Given the description of an element on the screen output the (x, y) to click on. 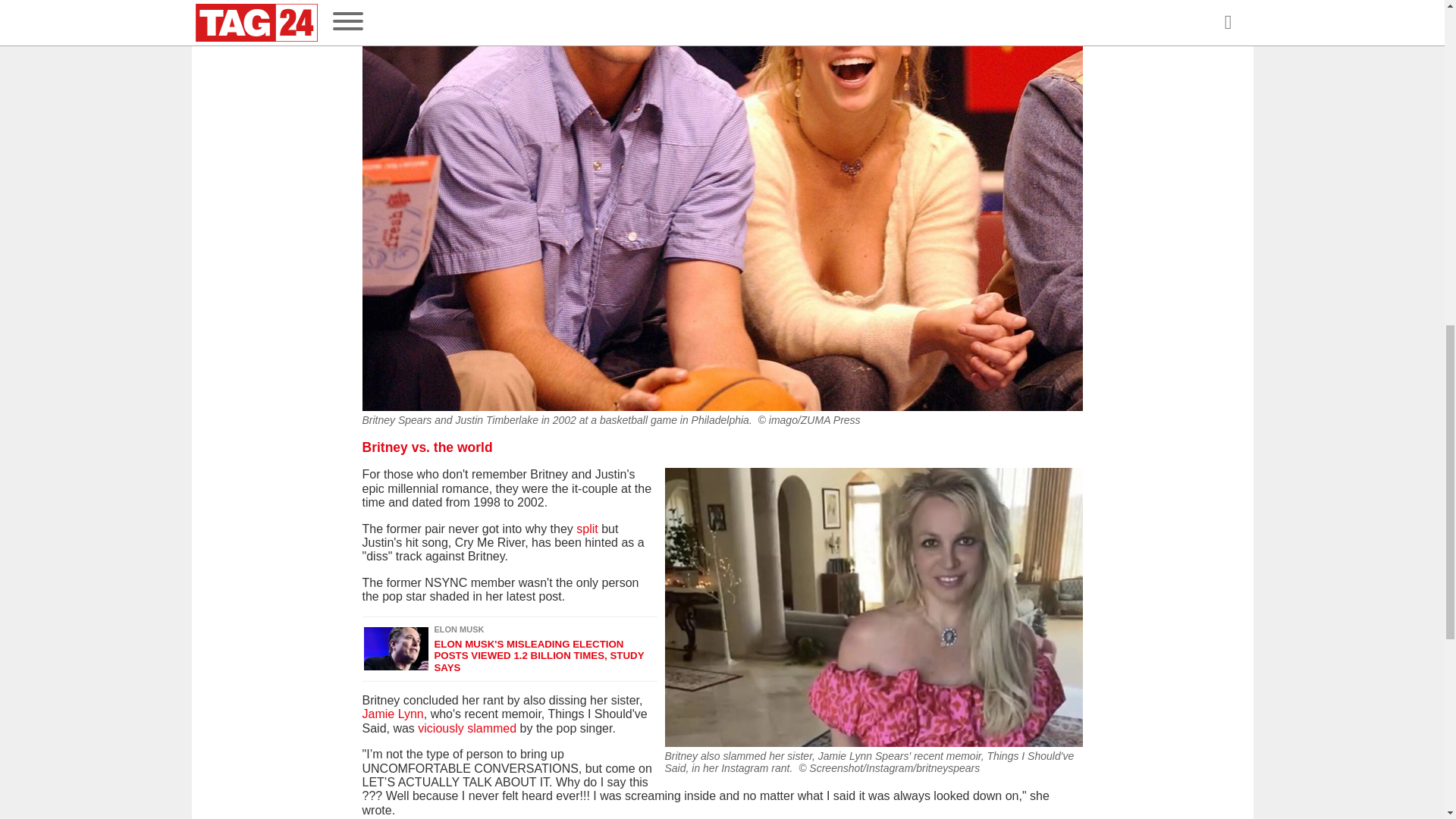
Jamie Lynn (392, 713)
viciously slammed (466, 727)
split (586, 528)
